Given the description of an element on the screen output the (x, y) to click on. 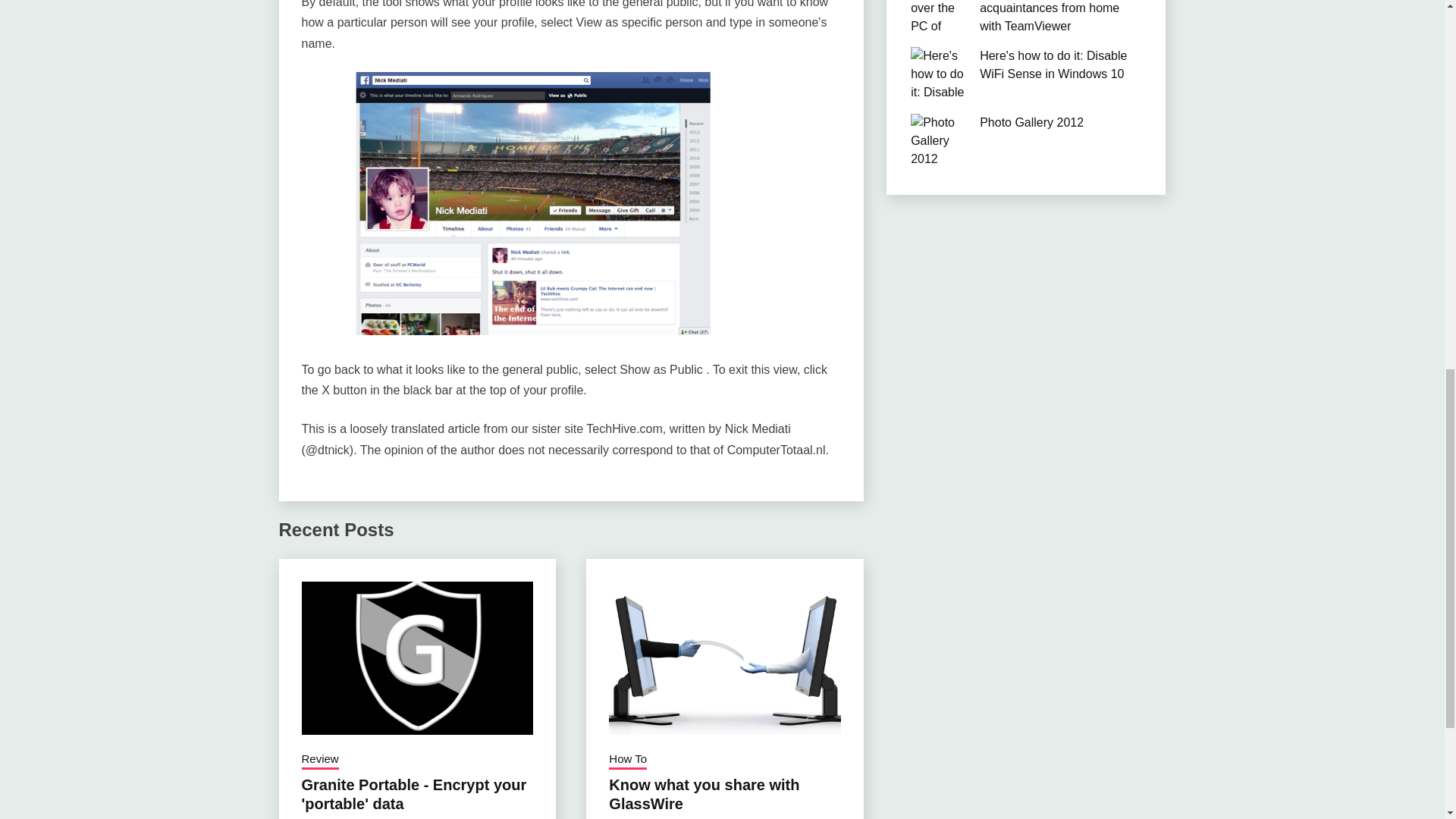
Review (320, 760)
Take over the PC of acquaintances from home with TeamViewer (1049, 16)
Know what you share with GlassWire (703, 794)
Granite Portable - Encrypt your 'portable' data (414, 794)
How To (627, 760)
Here's how to do it: Disable WiFi Sense in Windows 10 (1052, 64)
